Given the description of an element on the screen output the (x, y) to click on. 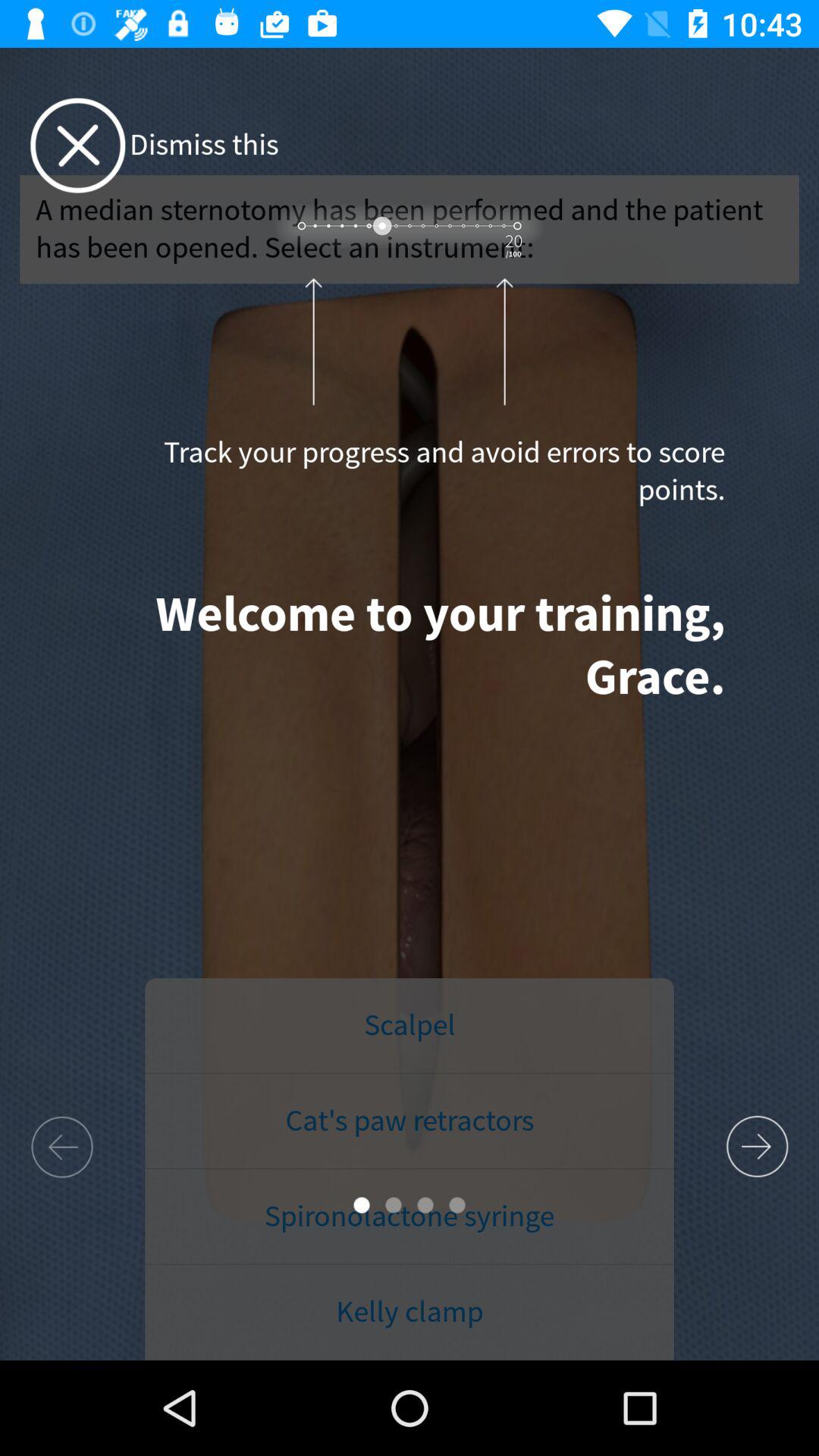
choose item below the welcome to your item (409, 1025)
